Given the description of an element on the screen output the (x, y) to click on. 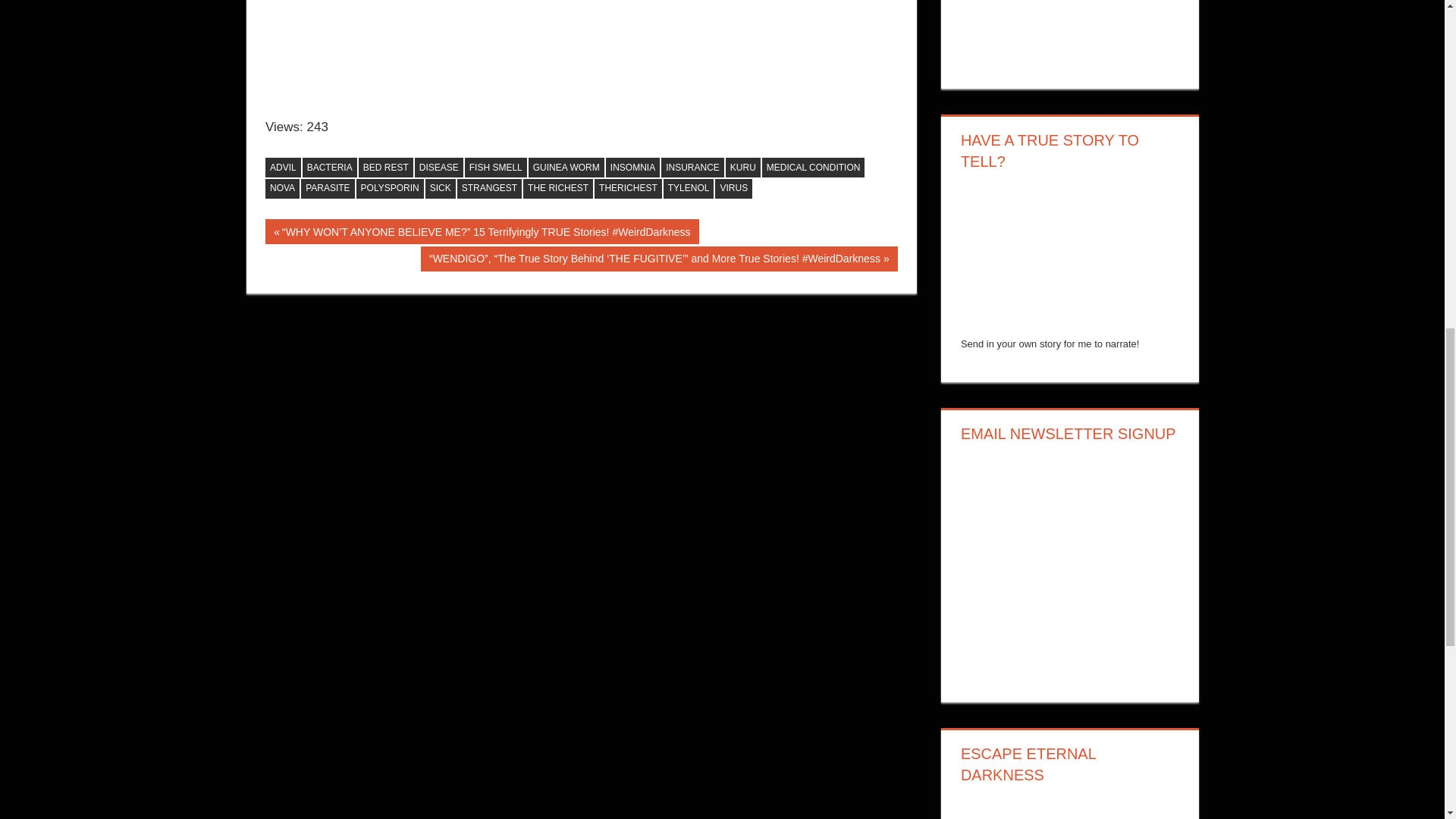
Email Newsletter Signup (1069, 566)
